Given the description of an element on the screen output the (x, y) to click on. 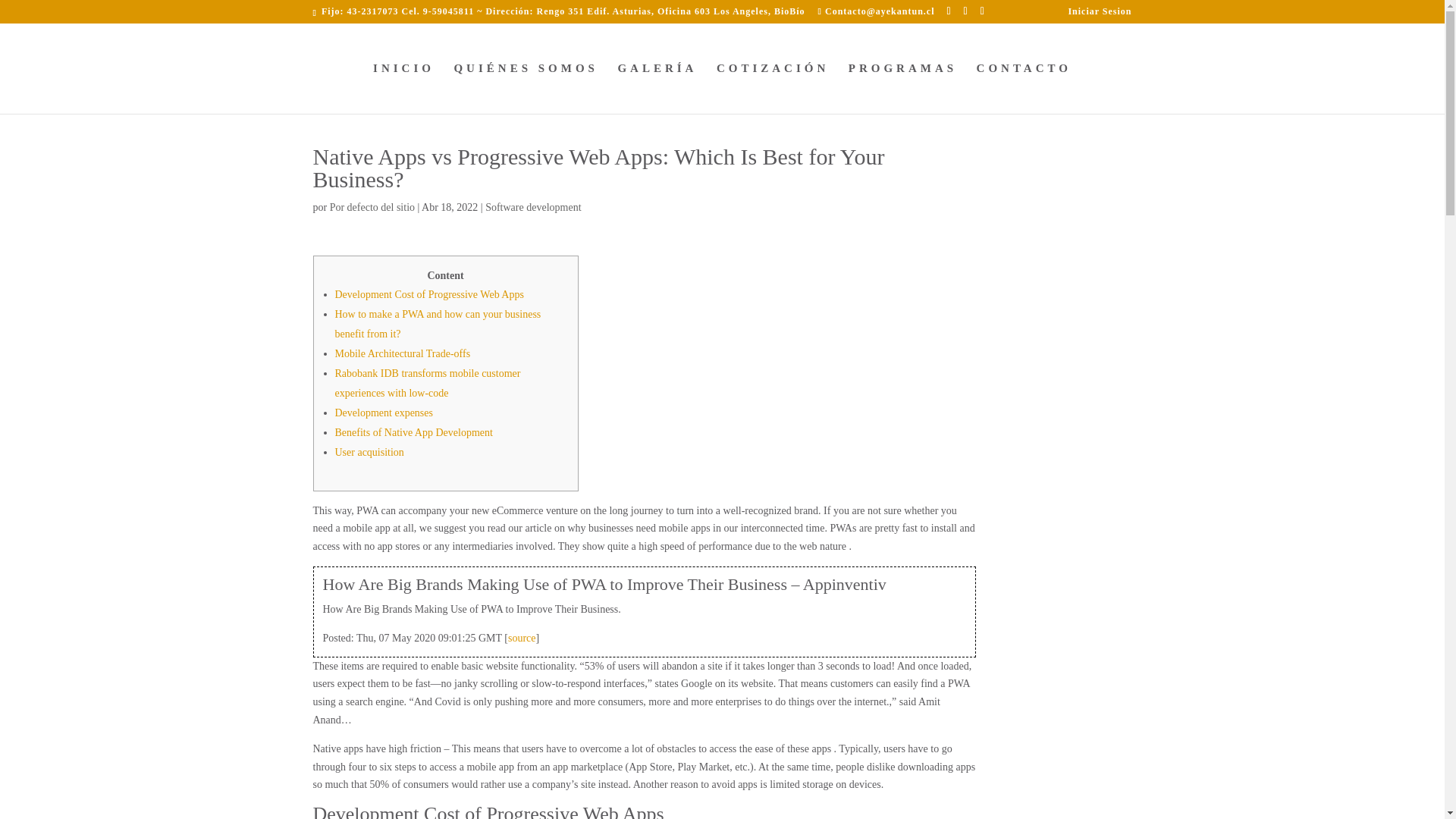
PROGRAMAS (902, 88)
Development expenses (383, 412)
INICIO (402, 88)
source (521, 637)
How to make a PWA and how can your business benefit from it? (437, 323)
User acquisition (369, 451)
CONTACTO (1023, 88)
Benefits of Native App Development (413, 432)
Mensajes de Por defecto del sitio (372, 206)
Por defecto del sitio (372, 206)
